Given the description of an element on the screen output the (x, y) to click on. 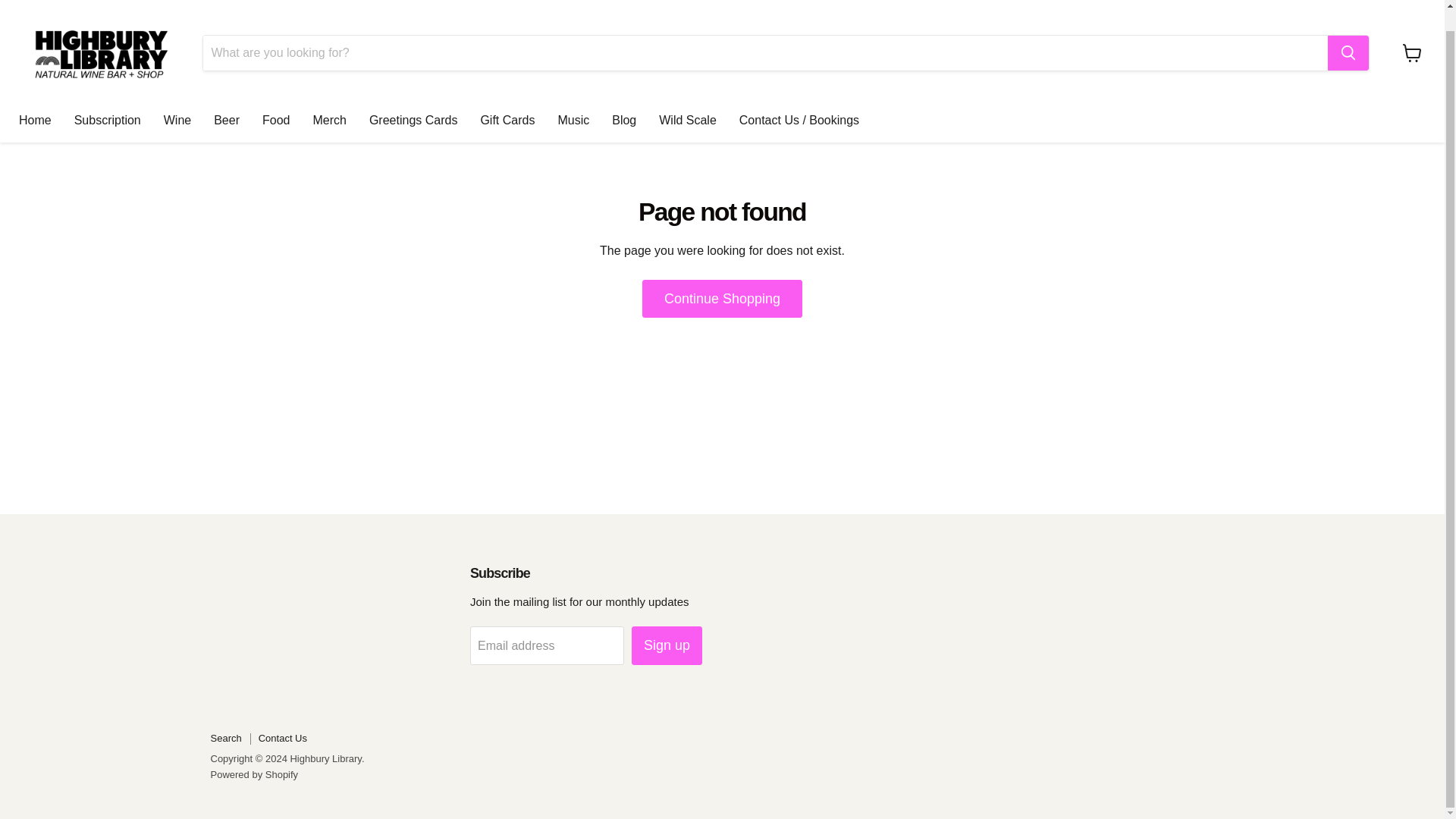
Blog (623, 100)
Gift Cards (507, 100)
Powered by Shopify (254, 774)
Merch (328, 100)
Greetings Cards (413, 100)
Sign up (666, 645)
Home (34, 100)
View cart (1411, 32)
Search (226, 737)
Music (572, 100)
